Given the description of an element on the screen output the (x, y) to click on. 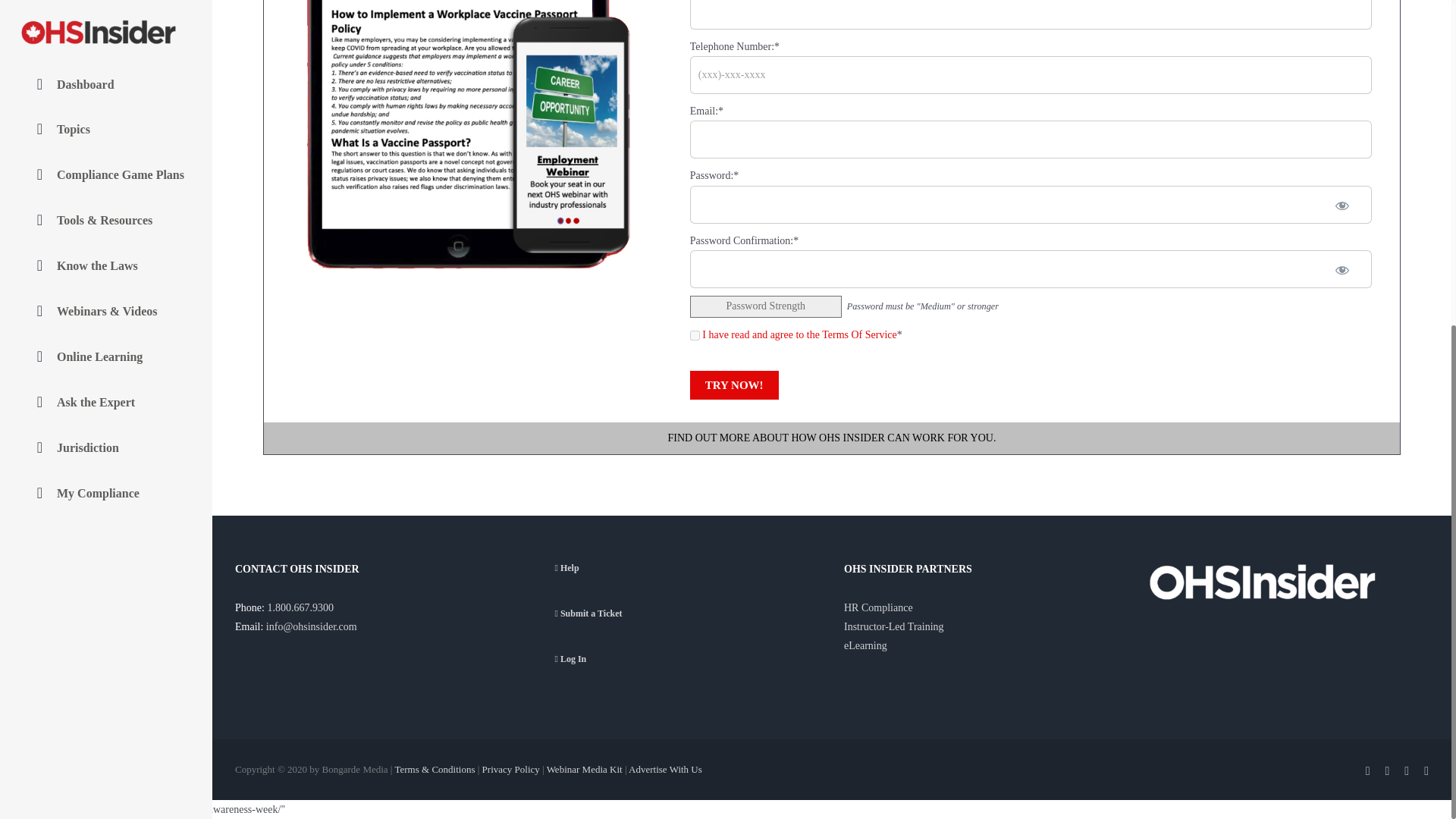
Try Now! (734, 385)
on (695, 335)
